Given the description of an element on the screen output the (x, y) to click on. 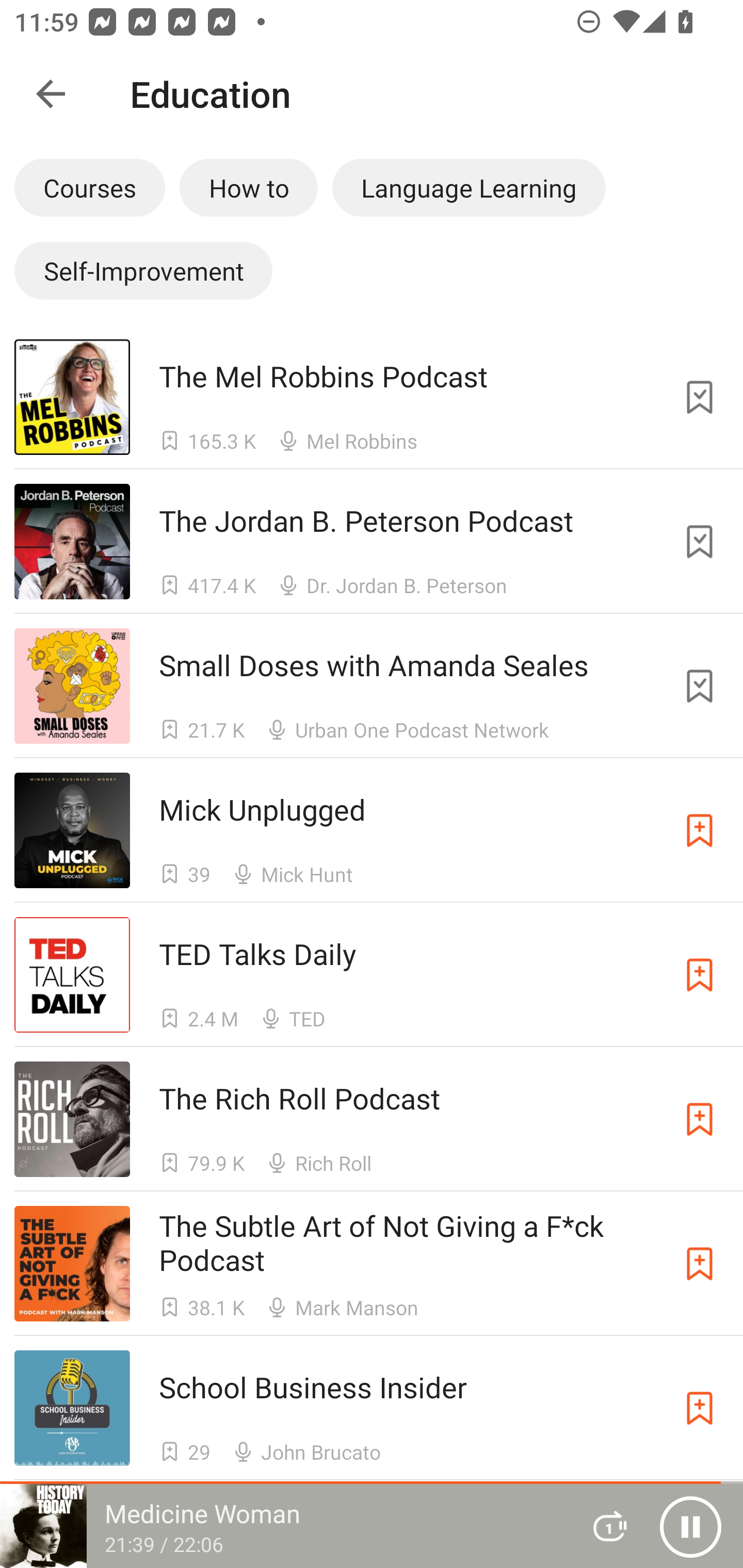
Navigate up (50, 93)
Courses (89, 187)
How to (248, 187)
Language Learning (468, 187)
Self-Improvement (143, 270)
Unsubscribe (699, 396)
Unsubscribe (699, 541)
Unsubscribe (699, 685)
Subscribe (699, 830)
Subscribe (699, 975)
Subscribe (699, 1119)
Subscribe (699, 1263)
Subscribe (699, 1408)
Medicine Woman 21:39 / 22:06 (283, 1525)
Pause (690, 1526)
